Given the description of an element on the screen output the (x, y) to click on. 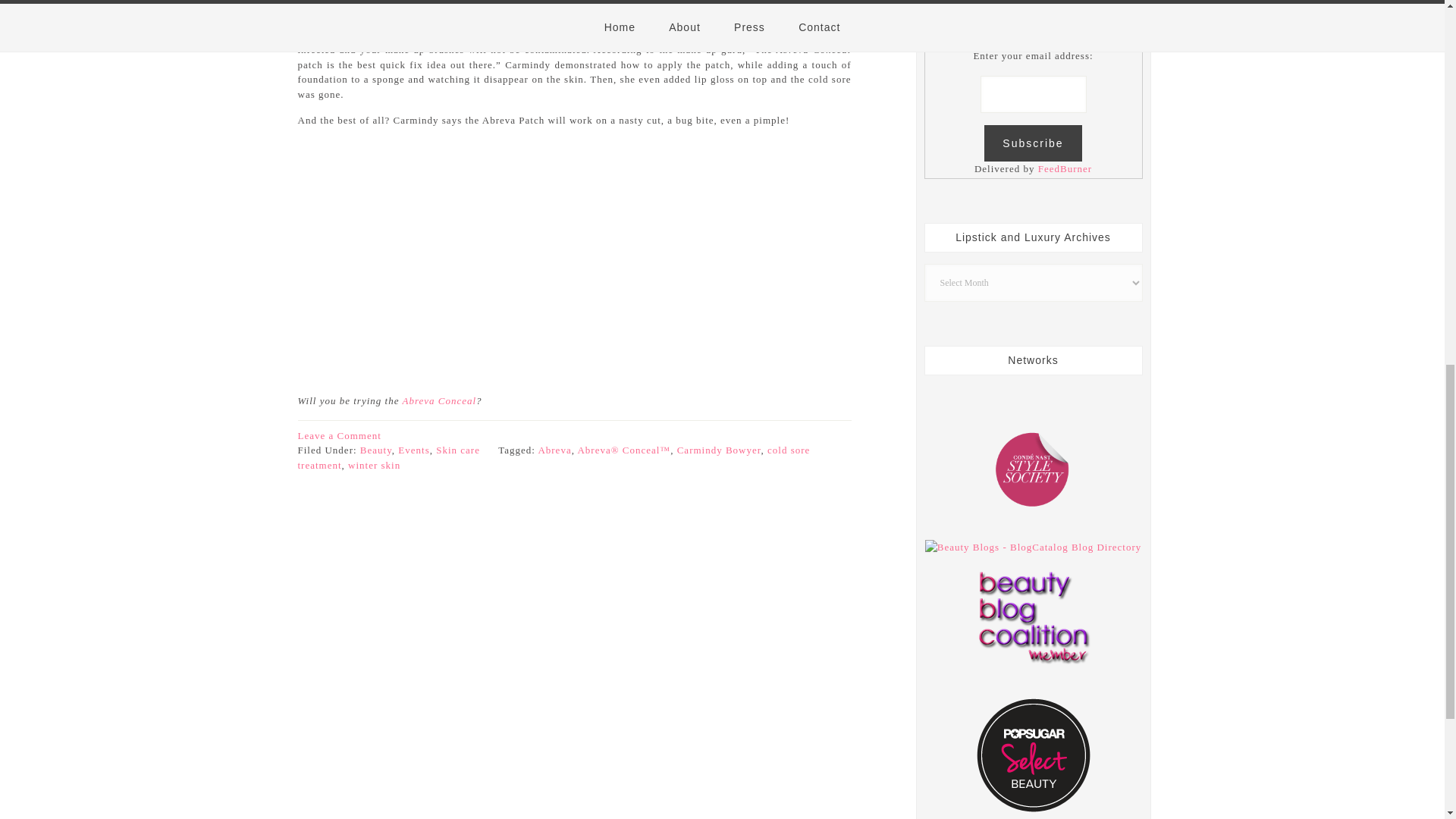
Skin care (457, 449)
cold sore treatment (553, 457)
Carmindy Bowyer (719, 449)
FeedBurner (1065, 168)
Abreva (553, 449)
Events (413, 449)
Leave a Comment (338, 434)
Beauty Blogs - BlogCatalog Blog Directory (1032, 546)
Abreva Conceal - Cold Sore Patch (438, 400)
Subscribe (1032, 143)
Subscribe (1032, 143)
winter skin (373, 464)
Abreva Conceal (438, 400)
Beauty (375, 449)
